Given the description of an element on the screen output the (x, y) to click on. 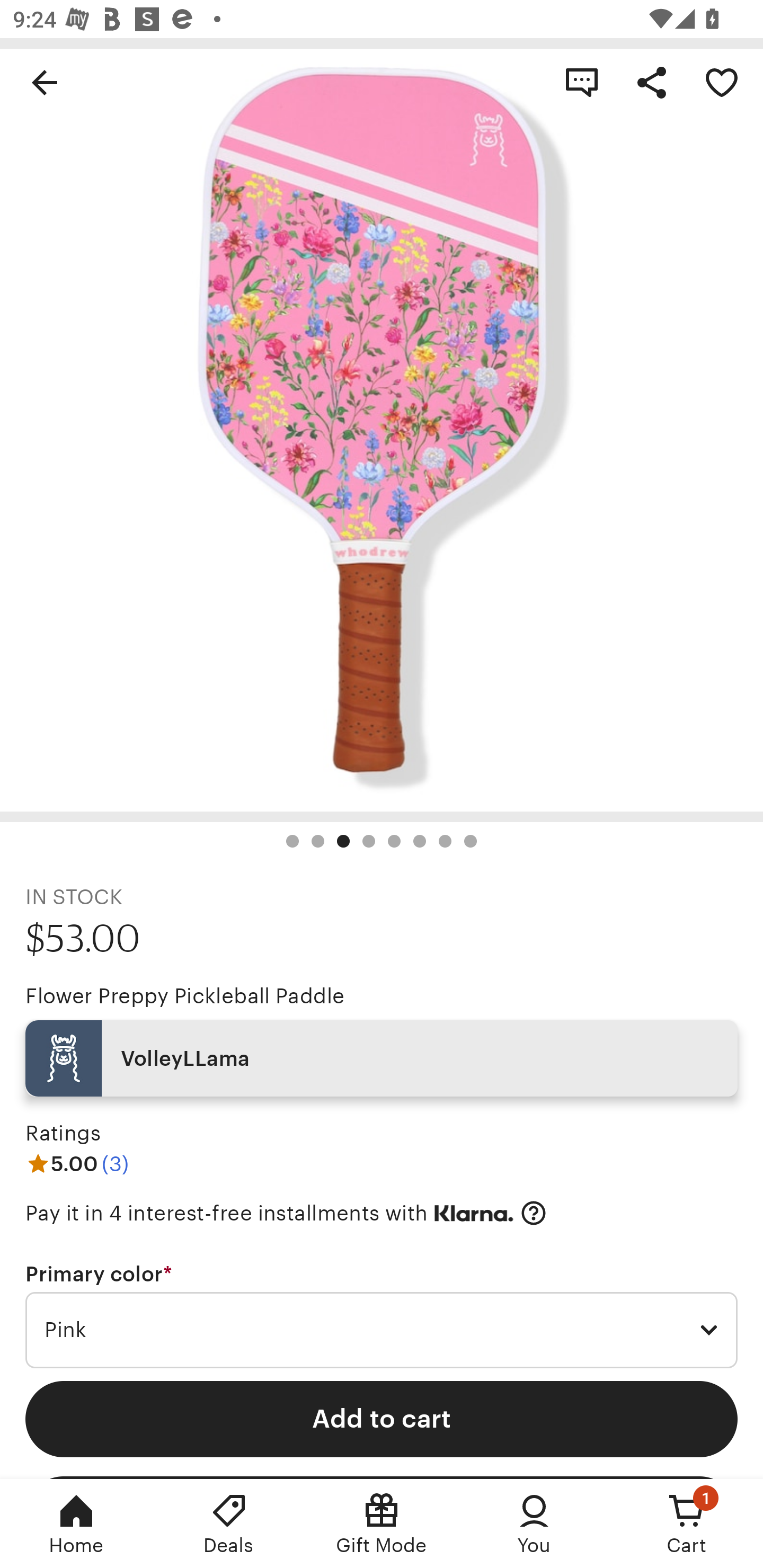
Navigate up (44, 81)
Contact shop (581, 81)
Share (651, 81)
Flower Preppy Pickleball Paddle (184, 996)
VolleyLLama (381, 1058)
Ratings (62, 1133)
5.00 (3) (76, 1163)
Primary color * Required Pink (381, 1315)
Pink (381, 1330)
Add to cart (381, 1418)
Deals (228, 1523)
Gift Mode (381, 1523)
You (533, 1523)
Cart, 1 new notification Cart (686, 1523)
